Given the description of an element on the screen output the (x, y) to click on. 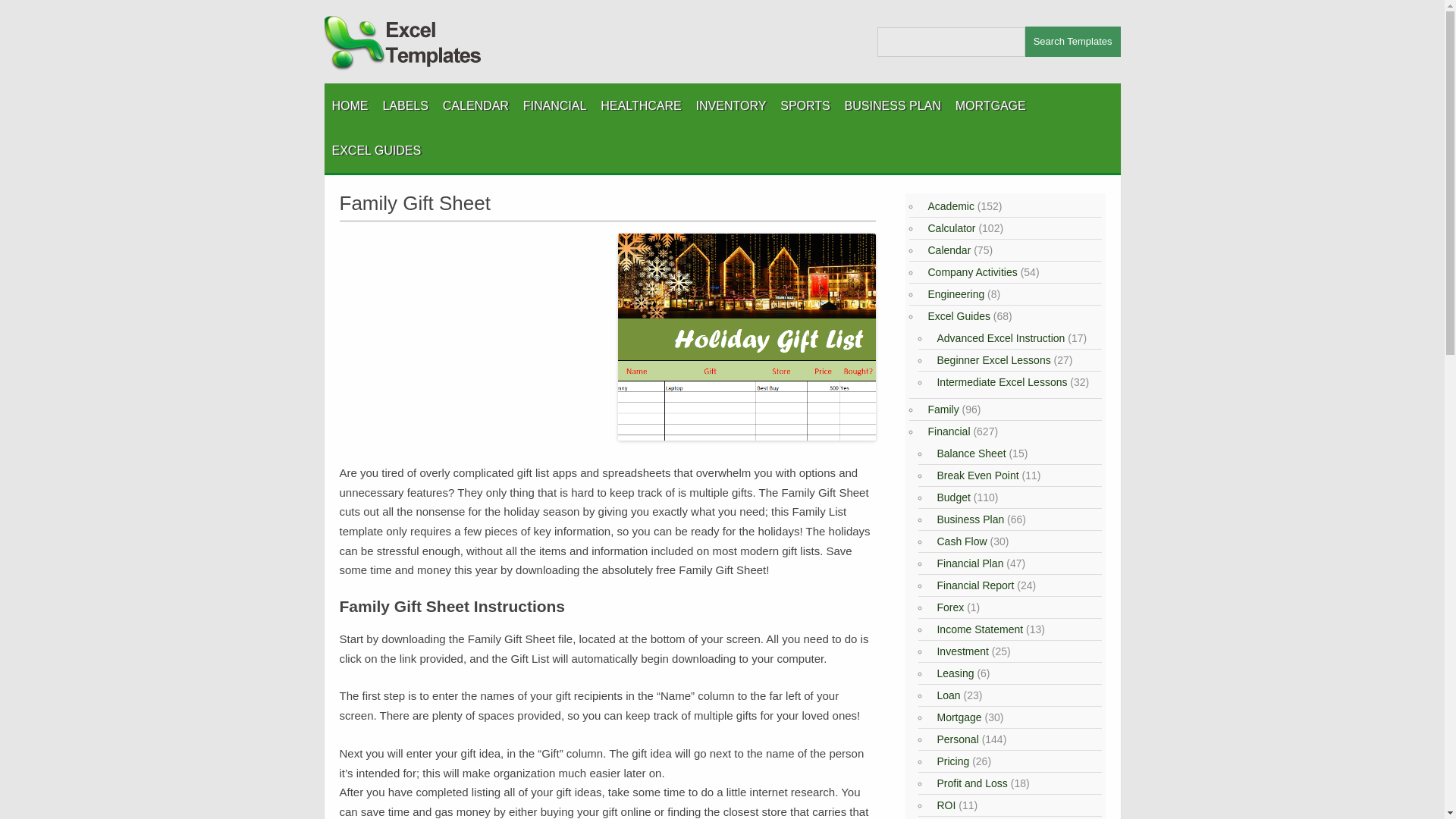
LABELS (404, 105)
Budget (951, 497)
Engineering (953, 294)
Intermediate Excel Lessons (1000, 381)
Advanced Excel Instruction (998, 337)
BEGINNER EXCEL LESSONS (407, 187)
Company Activities (969, 272)
Search Templates (1073, 41)
Balance Sheet (969, 453)
HEALTHCARE (640, 105)
SPORTS (804, 105)
MORTGAGE (990, 105)
BUSINESS PLAN (892, 105)
Beginner Excel Lessons (991, 359)
